Given the description of an element on the screen output the (x, y) to click on. 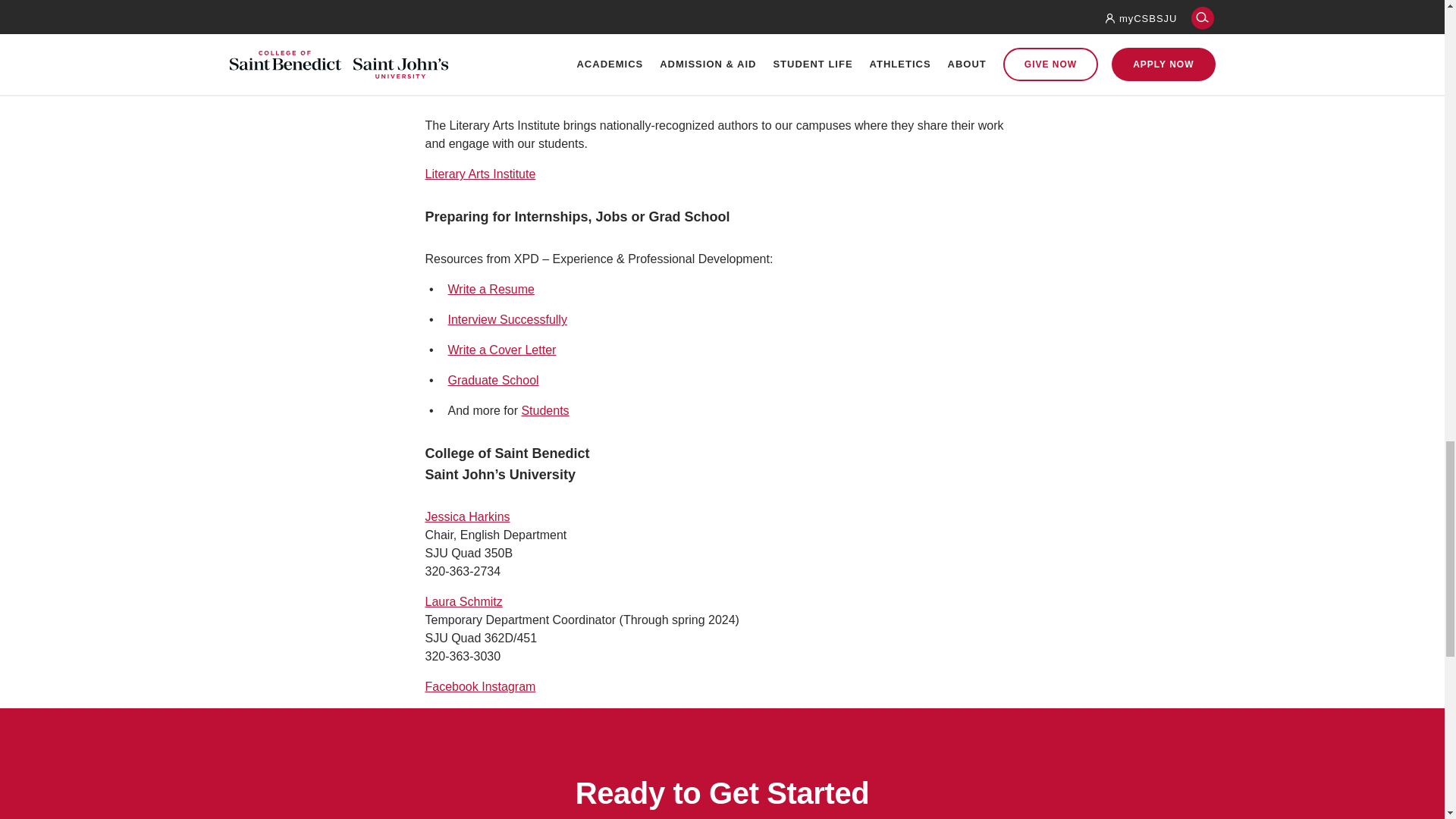
Facebook (453, 686)
Instagram (508, 686)
